Given the description of an element on the screen output the (x, y) to click on. 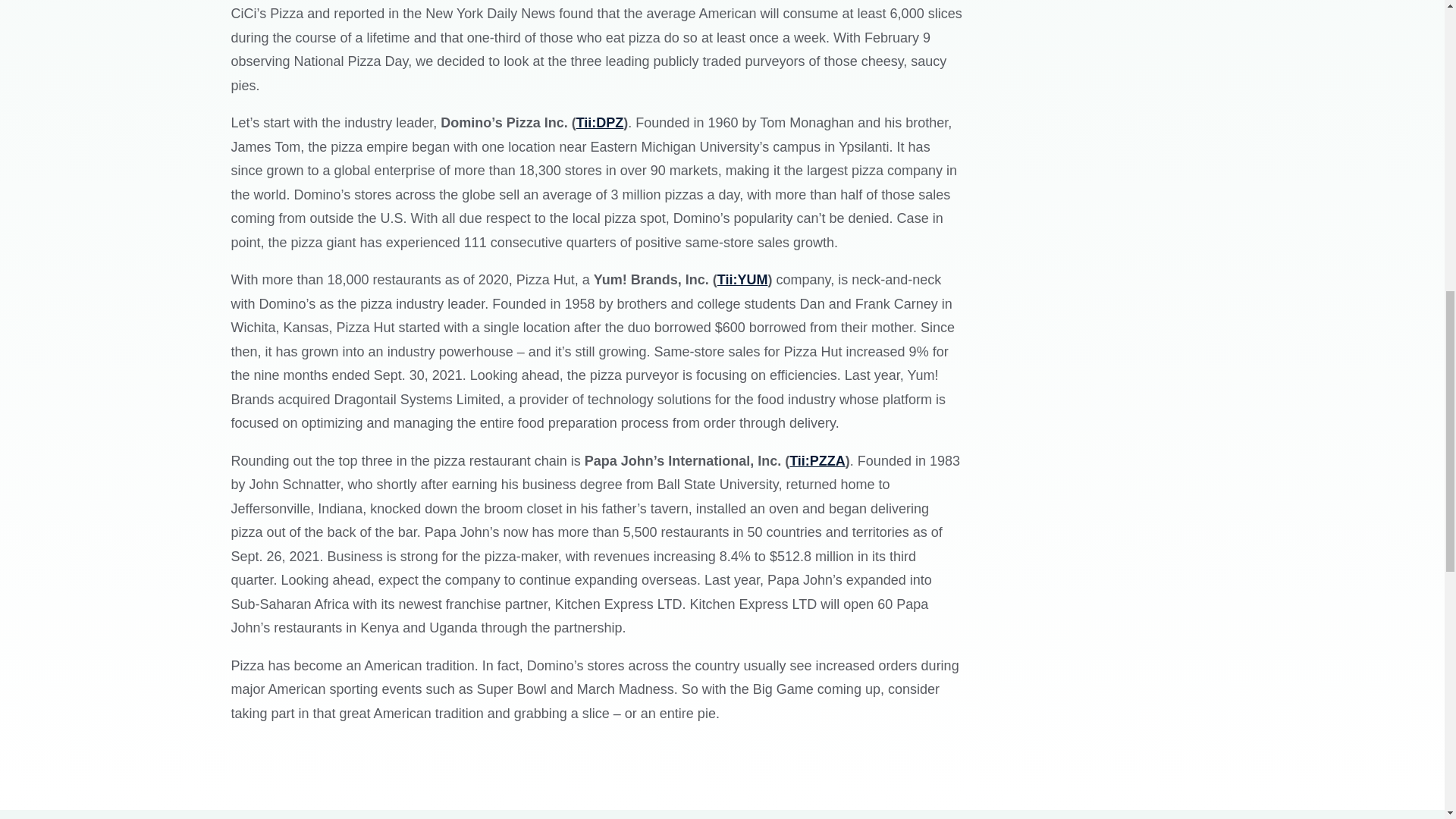
Tii:YUM (742, 279)
Tii:PZZA (817, 460)
Tii:DPZ (600, 122)
